Given the description of an element on the screen output the (x, y) to click on. 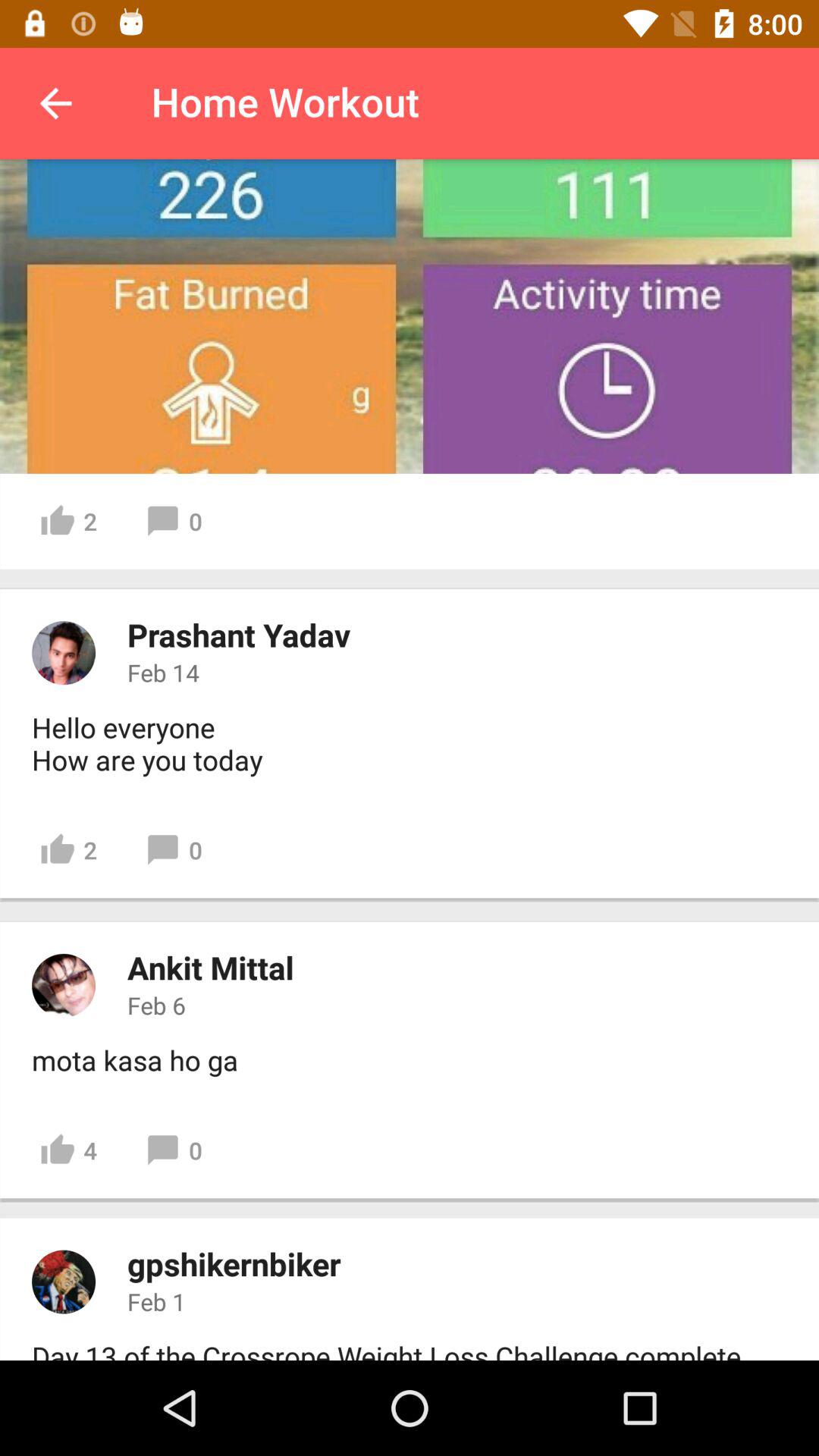
open the icon above the feb 6 item (210, 967)
